Given the description of an element on the screen output the (x, y) to click on. 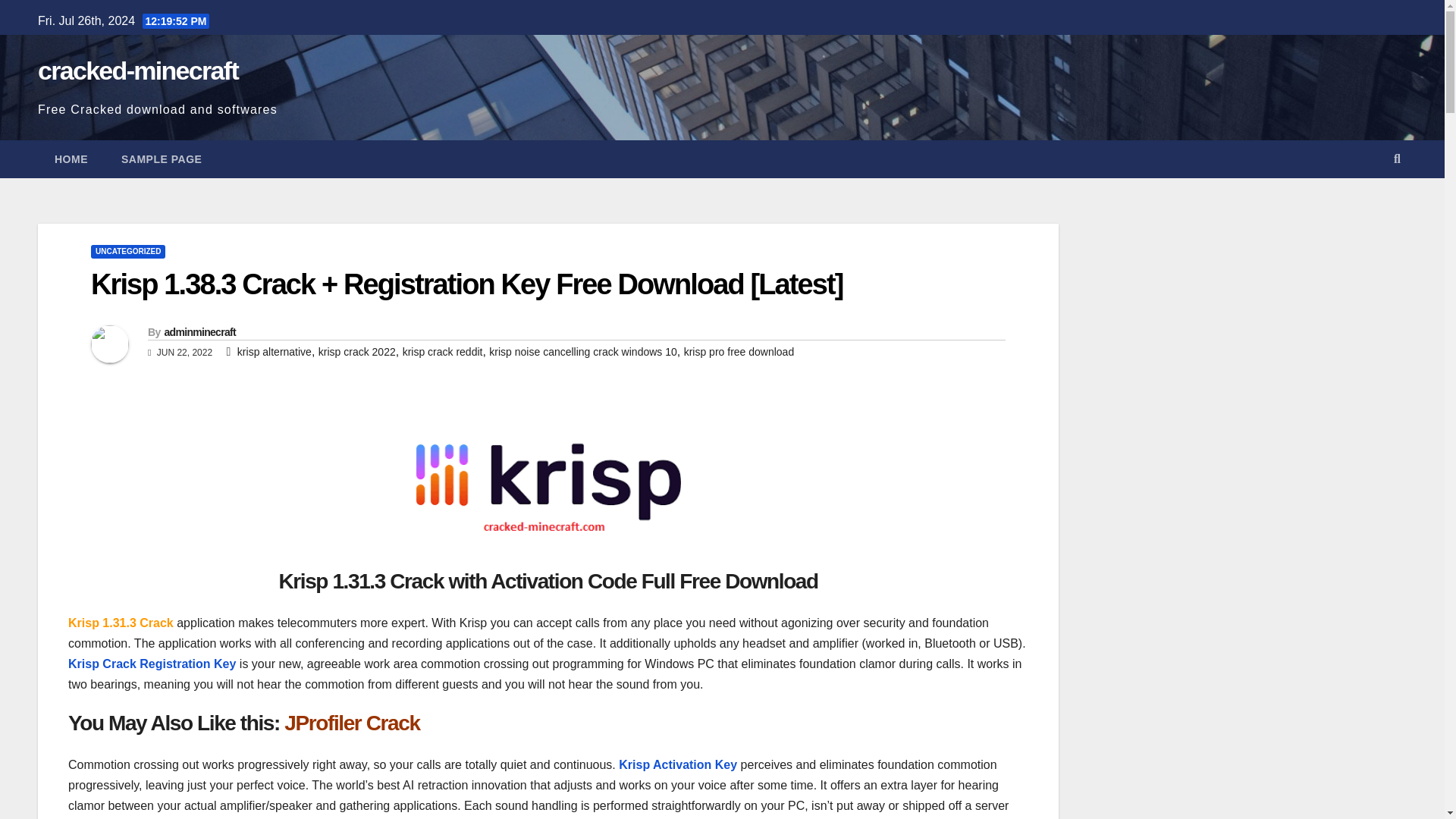
Krisp 1.31.3 Crack (122, 622)
krisp noise cancelling crack windows 10 (583, 351)
SAMPLE PAGE (161, 159)
Home (70, 159)
krisp crack reddit (443, 351)
adminminecraft (198, 331)
cracked-minecraft (137, 70)
HOME (70, 159)
UNCATEGORIZED (127, 251)
Krisp Crack Registration Key (151, 663)
Krisp Activation Key (675, 764)
krisp crack 2022 (357, 351)
JProfiler Crack (351, 722)
krisp alternative (274, 351)
krisp pro free download (739, 351)
